Given the description of an element on the screen output the (x, y) to click on. 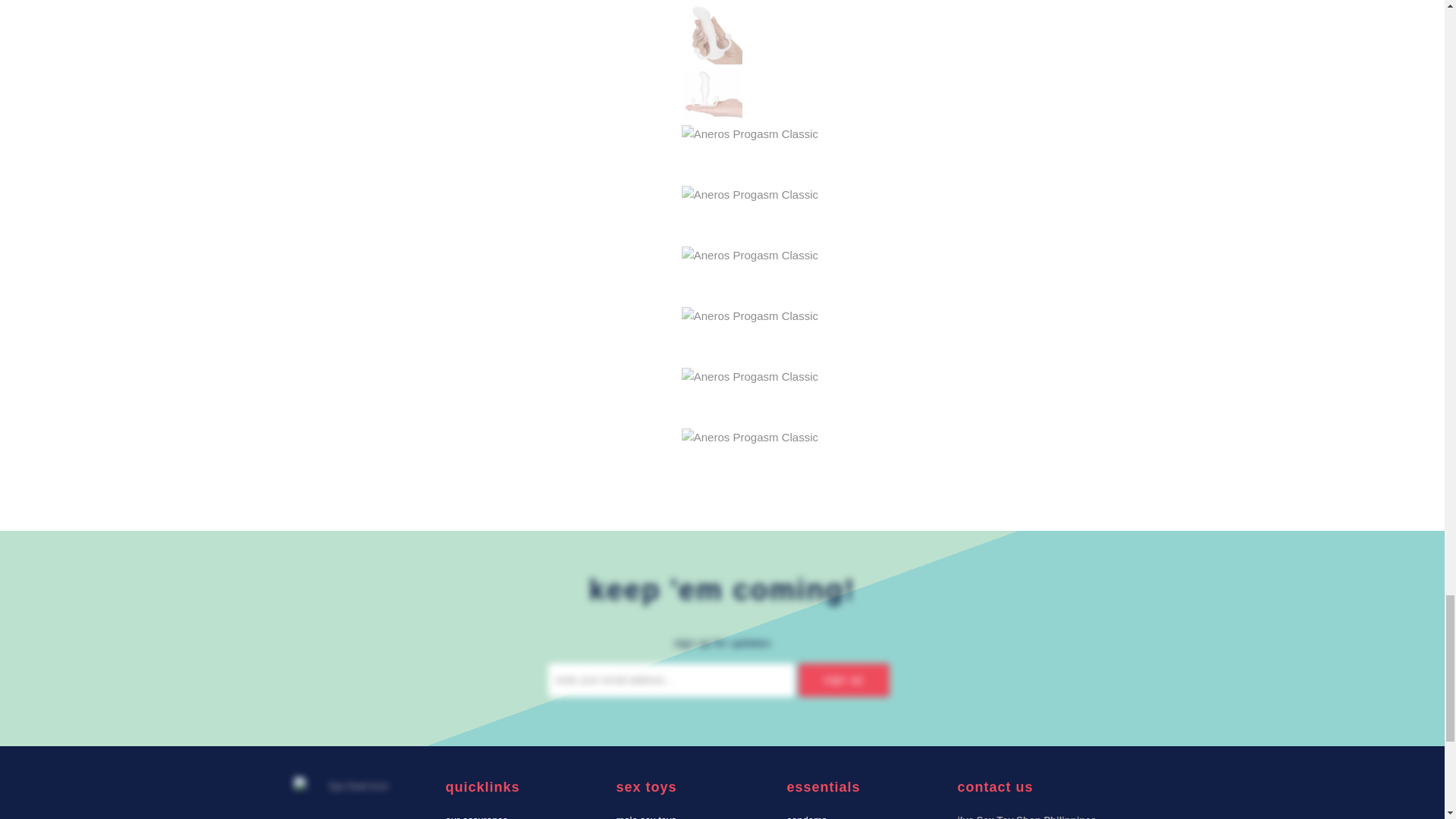
Sign Up (842, 679)
